Given the description of an element on the screen output the (x, y) to click on. 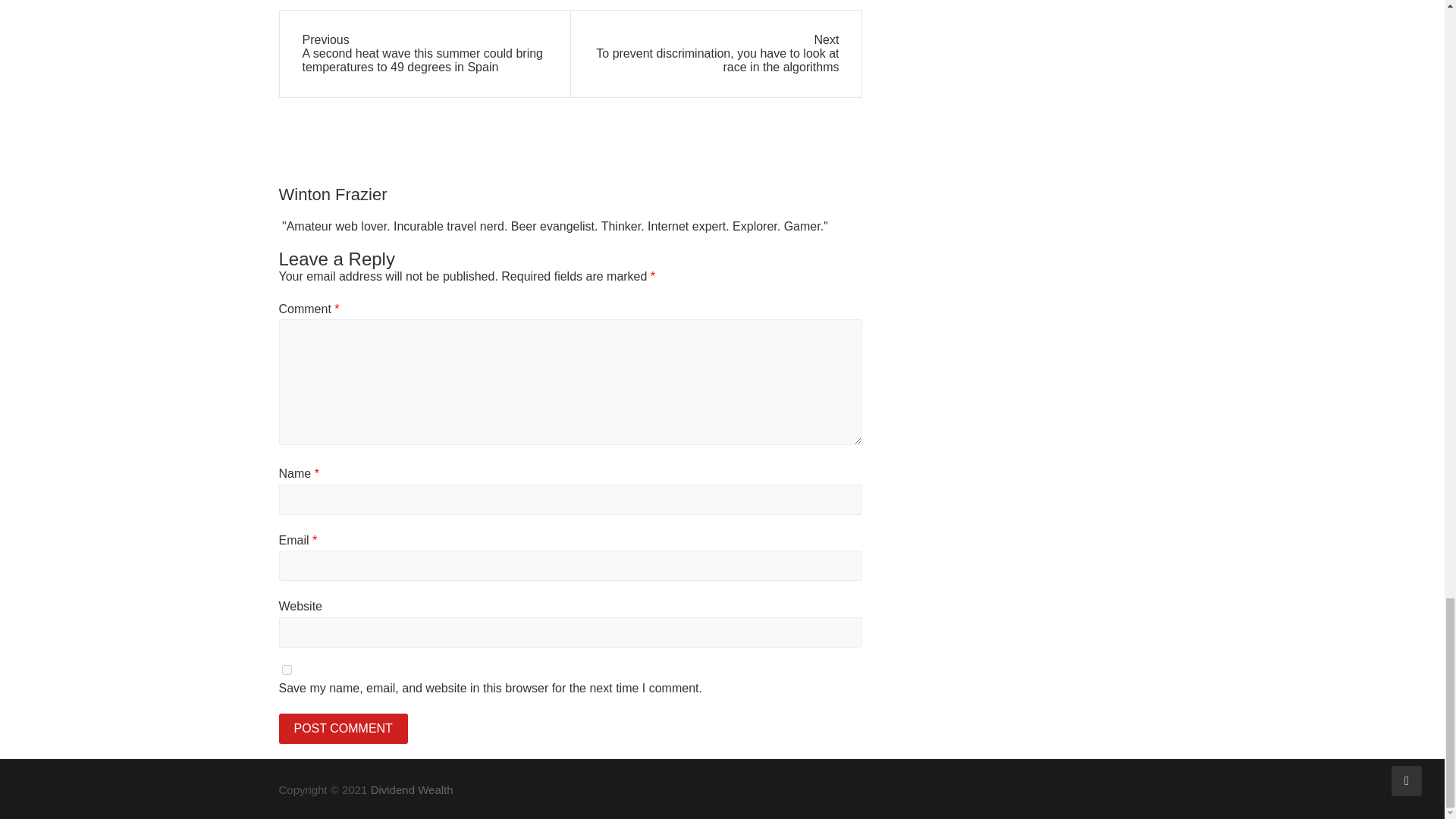
Post Comment (343, 728)
Dividend Wealth (411, 789)
yes (287, 669)
Post Comment (343, 728)
